Given the description of an element on the screen output the (x, y) to click on. 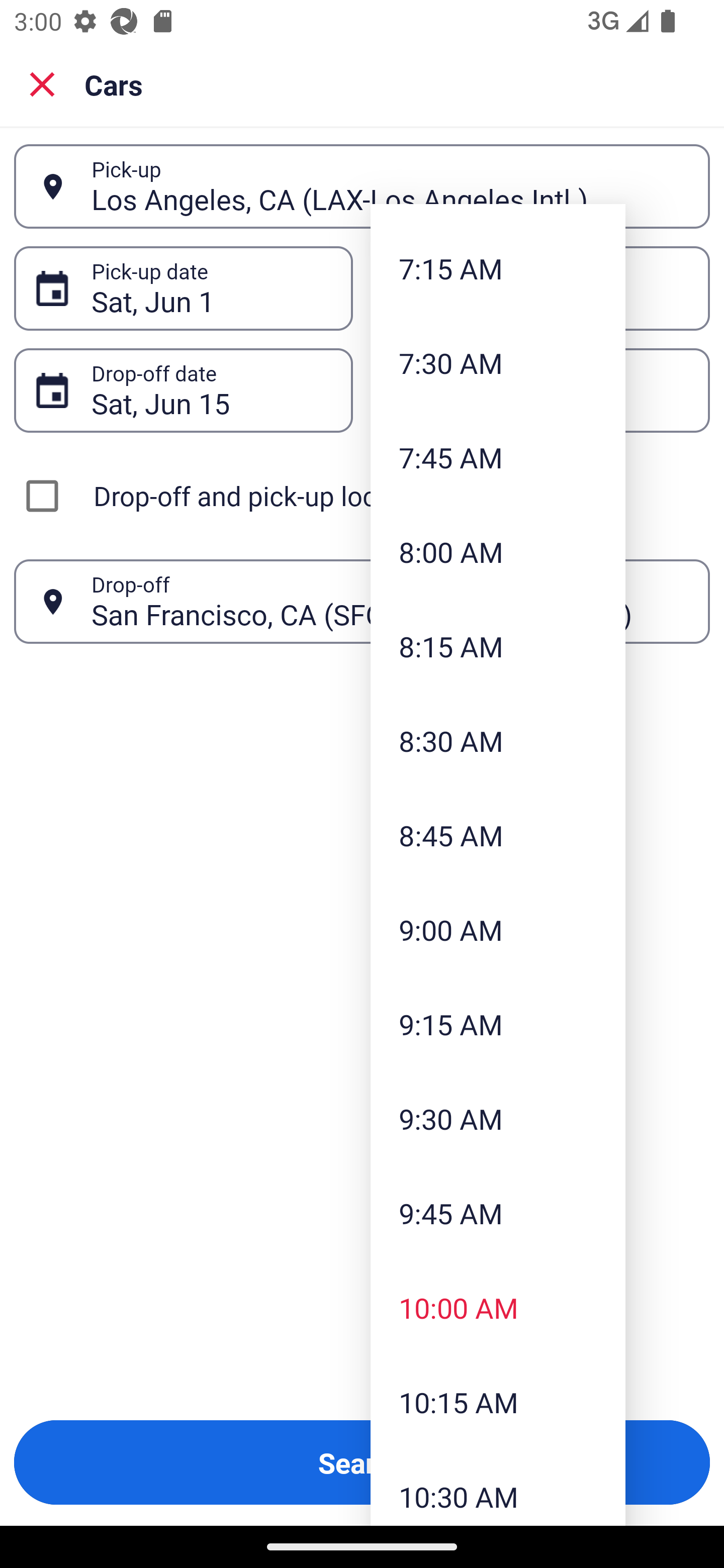
7:15 AM (497, 268)
7:30 AM (497, 362)
7:45 AM (497, 457)
8:00 AM (497, 551)
8:15 AM (497, 645)
8:30 AM (497, 740)
8:45 AM (497, 835)
9:00 AM (497, 929)
9:15 AM (497, 1023)
9:30 AM (497, 1118)
9:45 AM (497, 1213)
10:00 AM (497, 1307)
10:15 AM (497, 1401)
10:30 AM (497, 1486)
